Given the description of an element on the screen output the (x, y) to click on. 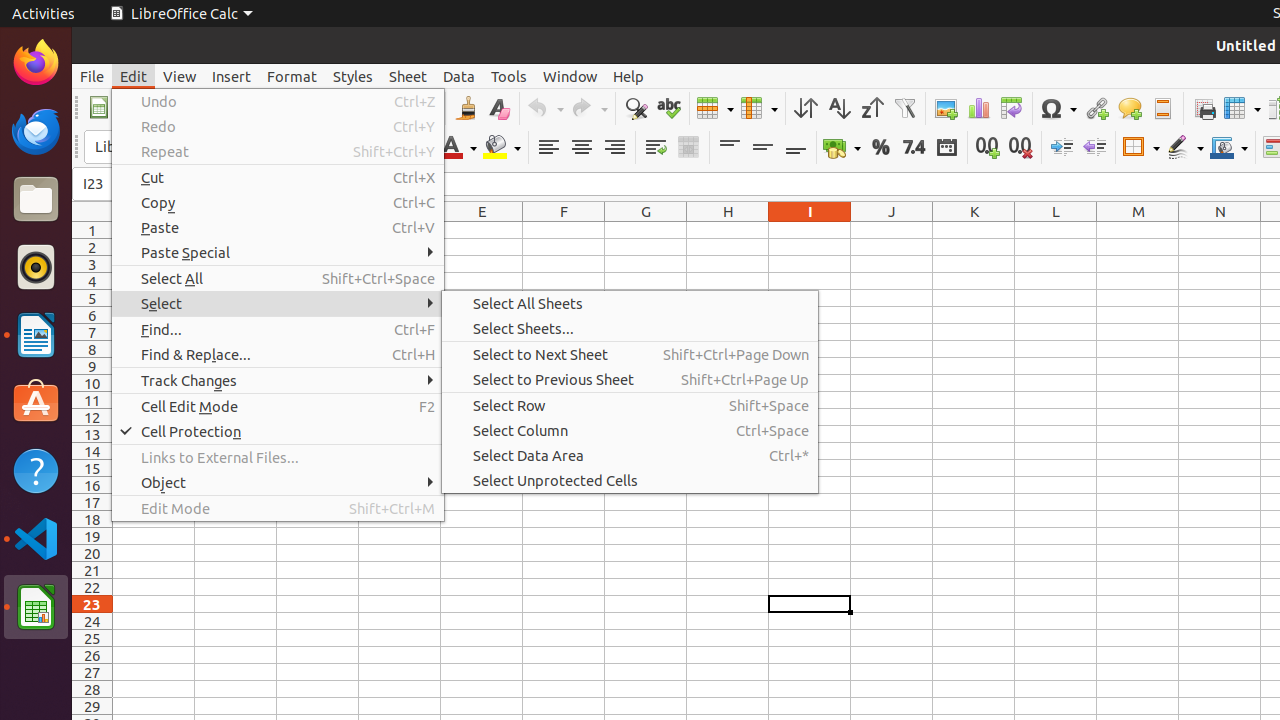
Border Style Element type: push-button (1185, 147)
LibreOffice Calc Element type: push-button (36, 607)
Chart Element type: push-button (978, 108)
Object Element type: menu (278, 482)
Wrap Text Element type: push-button (655, 147)
